Given the description of an element on the screen output the (x, y) to click on. 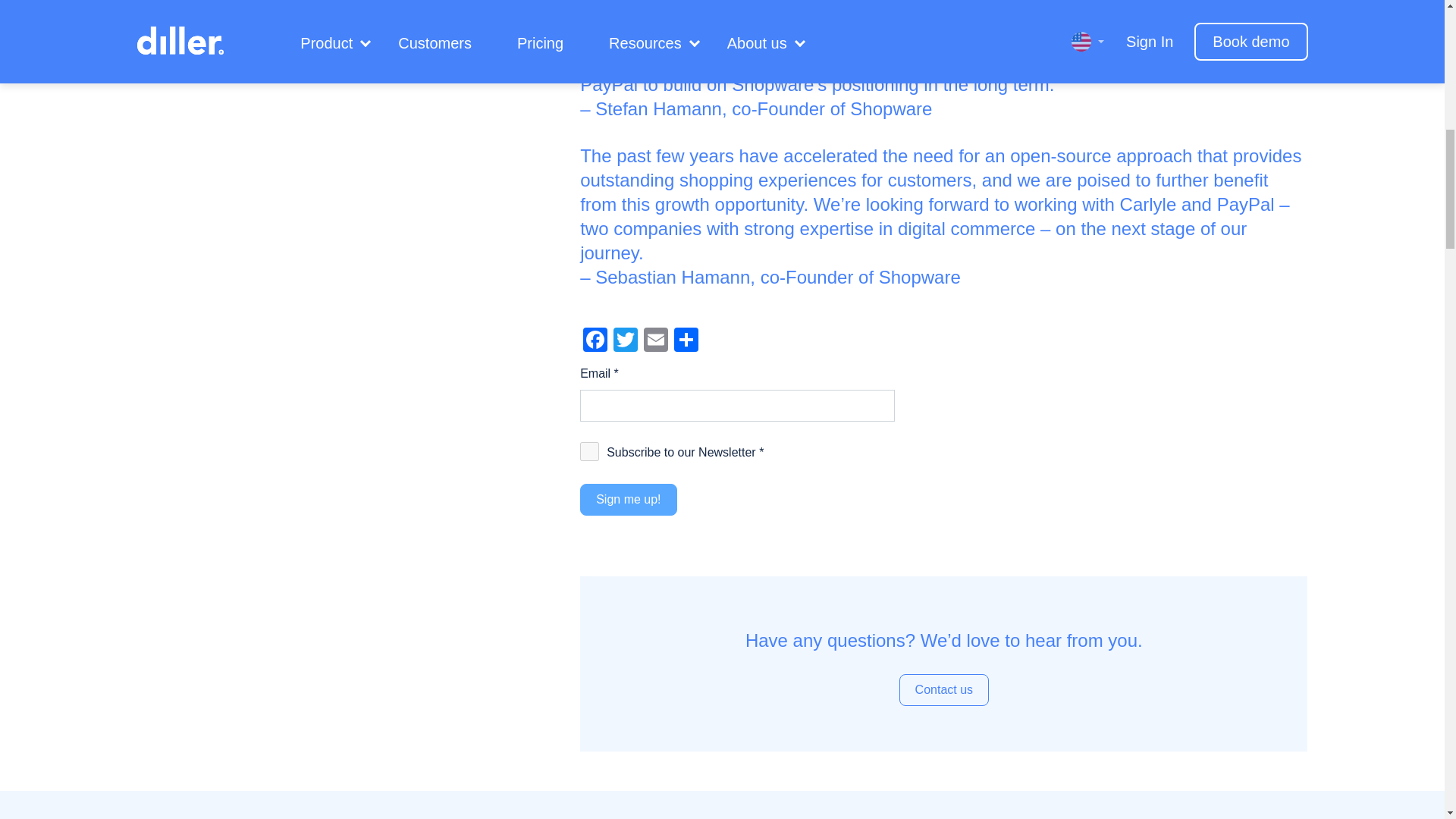
Sign me up! (628, 499)
Facebook (594, 341)
Twitter (625, 341)
Facebook (594, 341)
Email (655, 341)
